Given the description of an element on the screen output the (x, y) to click on. 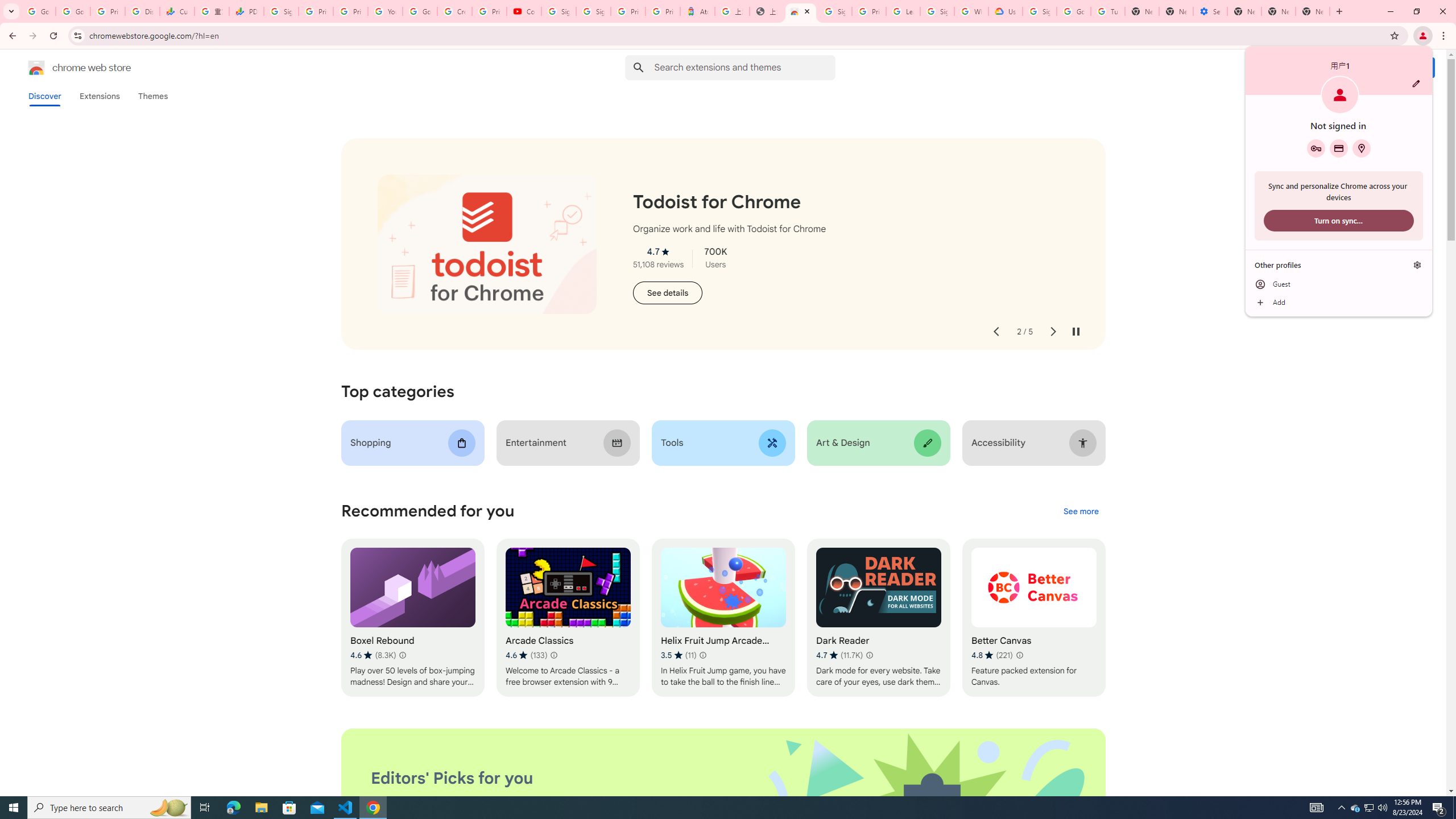
Who are Google's partners? - Privacy and conditions - Google (970, 11)
Shopping (412, 443)
New Tab (1312, 11)
Google Password Manager (1315, 148)
Notification Chevron (1341, 807)
Q2790: 100% (1382, 807)
Search input (744, 67)
Task View (204, 807)
Discover (43, 95)
Google Workspace Admin Community (38, 11)
See more personalized recommendations (1080, 511)
Type here to search (108, 807)
